Given the description of an element on the screen output the (x, y) to click on. 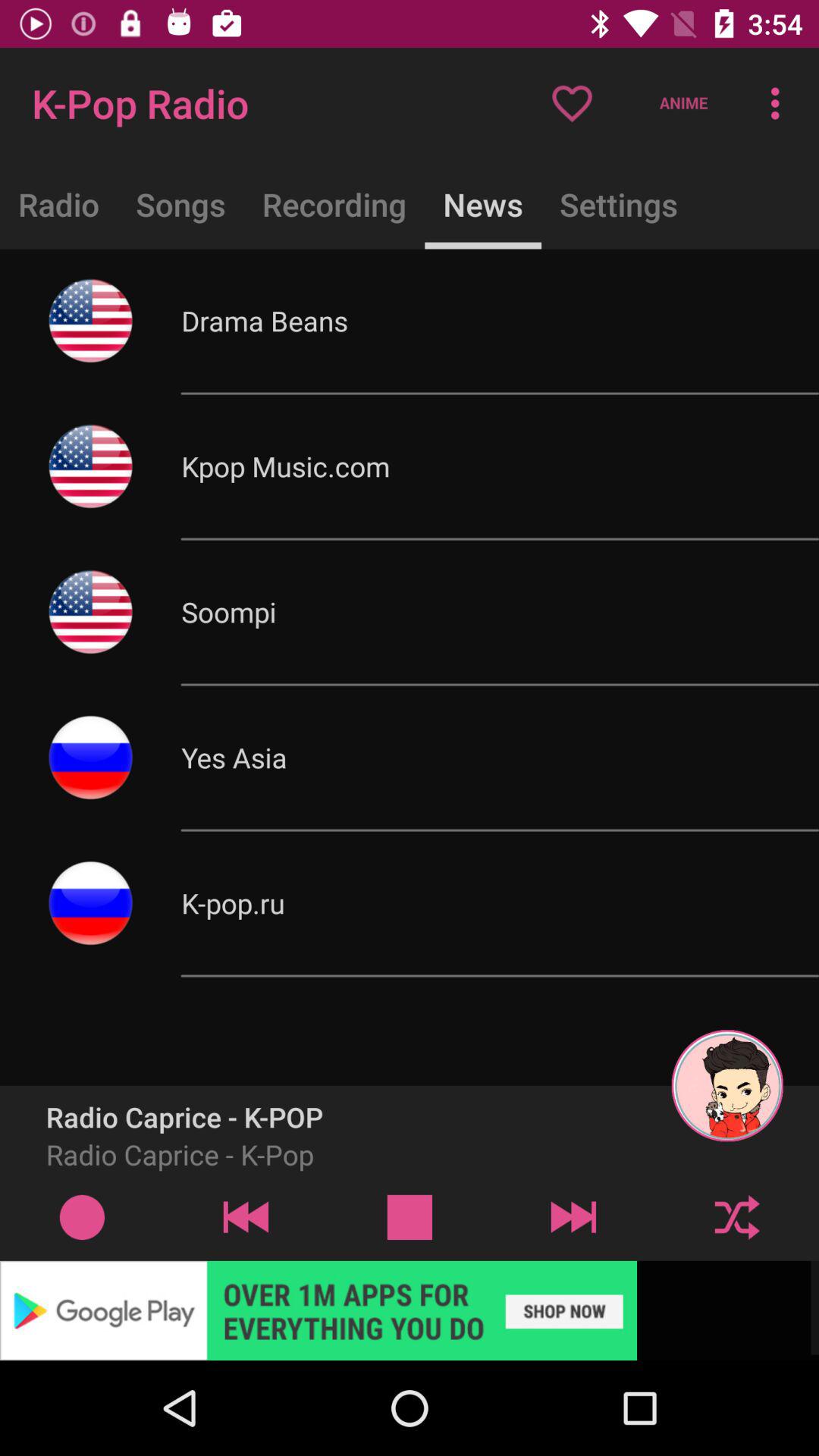
forward (573, 1216)
